Given the description of an element on the screen output the (x, y) to click on. 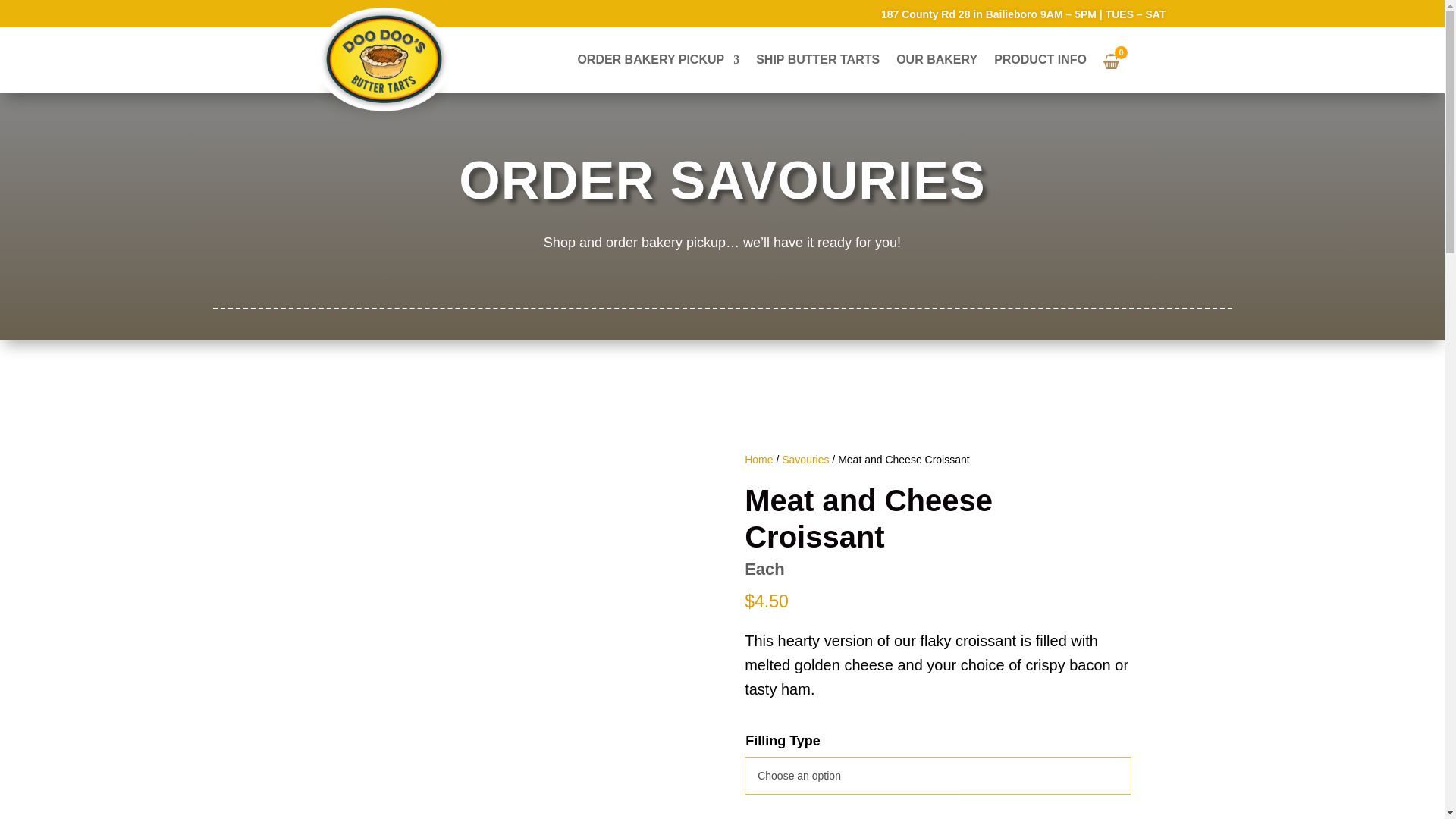
0 (1117, 59)
ORDER BAKERY PICKUP (657, 60)
SHIP BUTTER TARTS (817, 60)
Savouries (804, 459)
Home (758, 459)
PRODUCT INFO (1040, 60)
OUR BAKERY (936, 60)
